Given the description of an element on the screen output the (x, y) to click on. 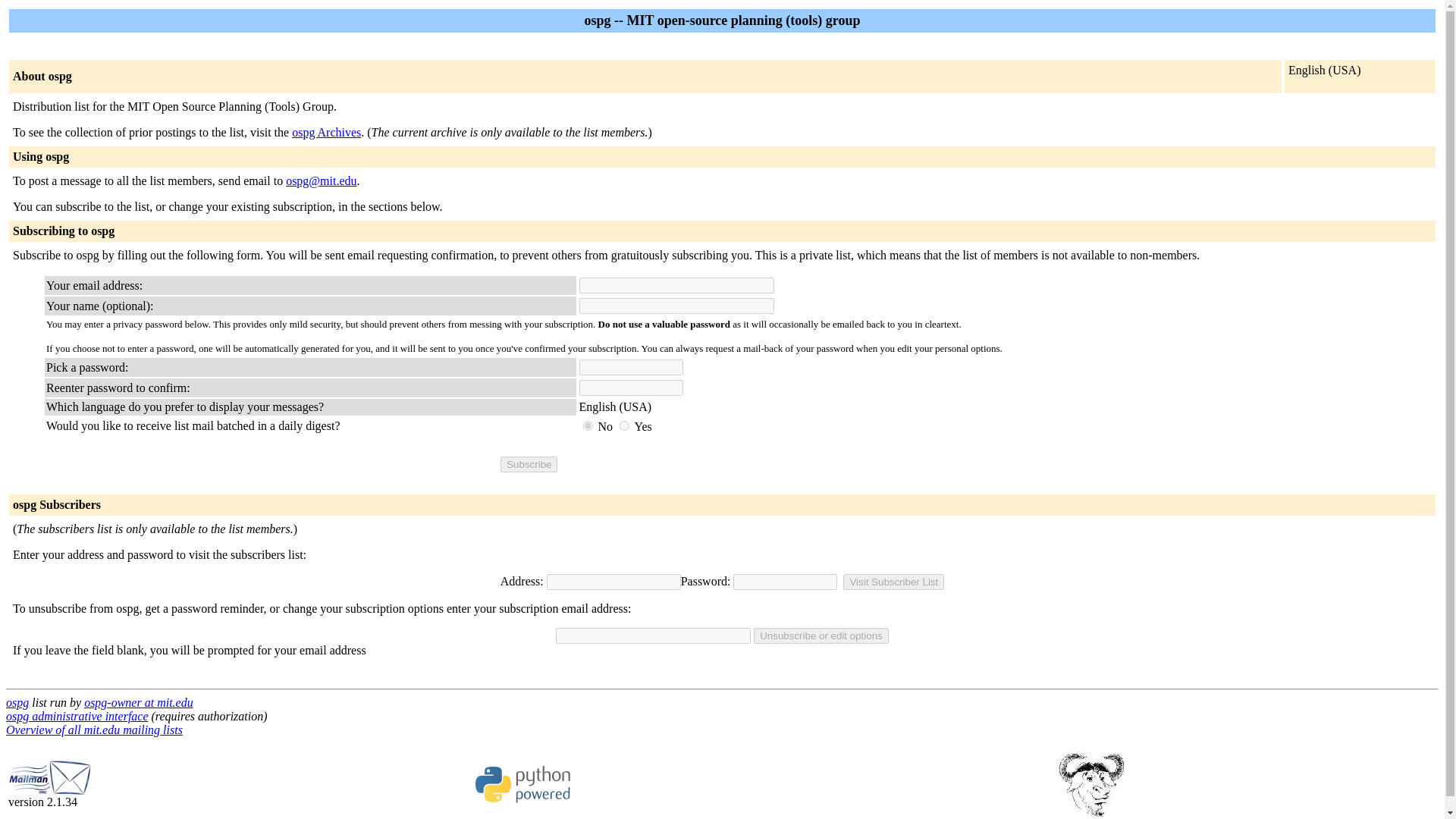
Overview of all mit.edu mailing lists (94, 729)
Visit Subscriber List (893, 581)
Unsubscribe or edit options (821, 635)
ospg Archives (326, 132)
0 (587, 425)
ospg administrative interface (76, 716)
ospg (17, 702)
ospg-owner at mit.edu (138, 702)
Subscribe (528, 464)
1 (624, 425)
ospg Subscribers (56, 504)
